Given the description of an element on the screen output the (x, y) to click on. 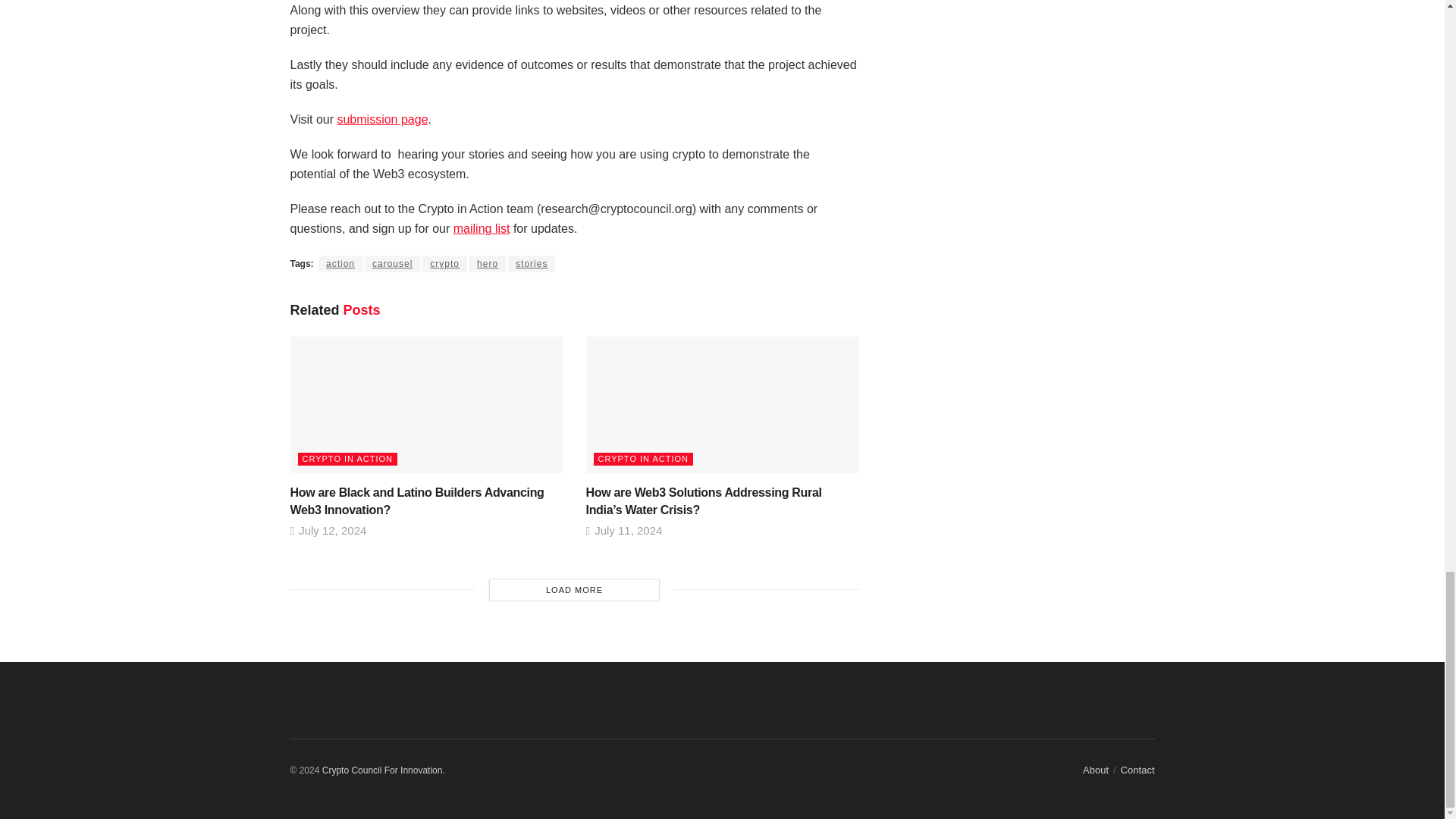
Crypto Council For Innovation (383, 769)
